Given the description of an element on the screen output the (x, y) to click on. 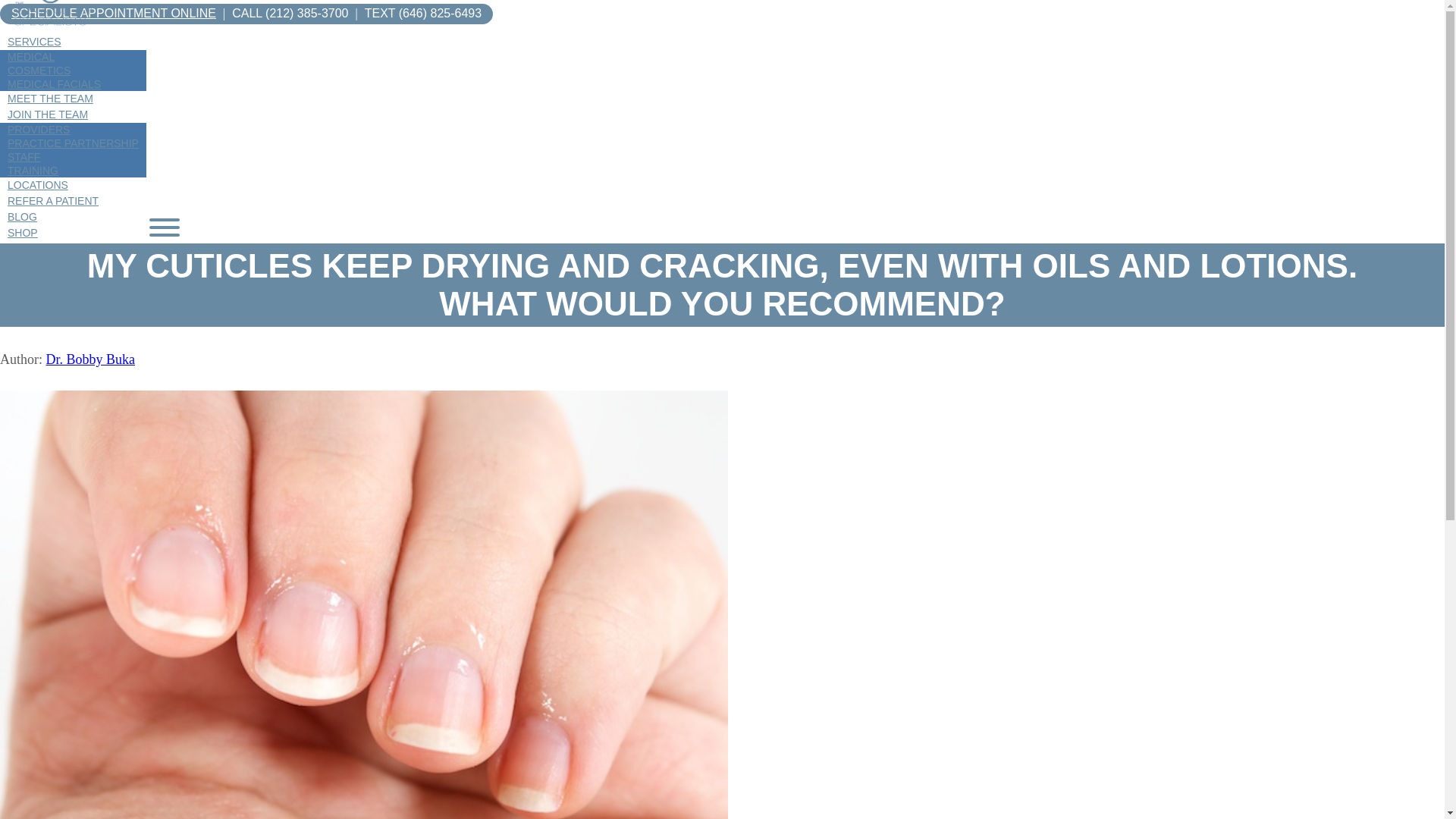
MEDICAL FACIALS (53, 83)
MEET THE TEAM (50, 98)
MEDICAL (31, 56)
LOCATIONS (37, 184)
COSMETICS (39, 70)
PROVIDERS (38, 129)
SHOP (22, 232)
JOIN THE TEAM (48, 114)
SCHEDULE APPOINTMENT ONLINE (113, 12)
SERVICES (34, 41)
BLOG (22, 216)
PRACTICE PARTNERSHIP (73, 143)
TRAINING (32, 170)
STAFF (24, 156)
REFER A PATIENT (53, 200)
